Given the description of an element on the screen output the (x, y) to click on. 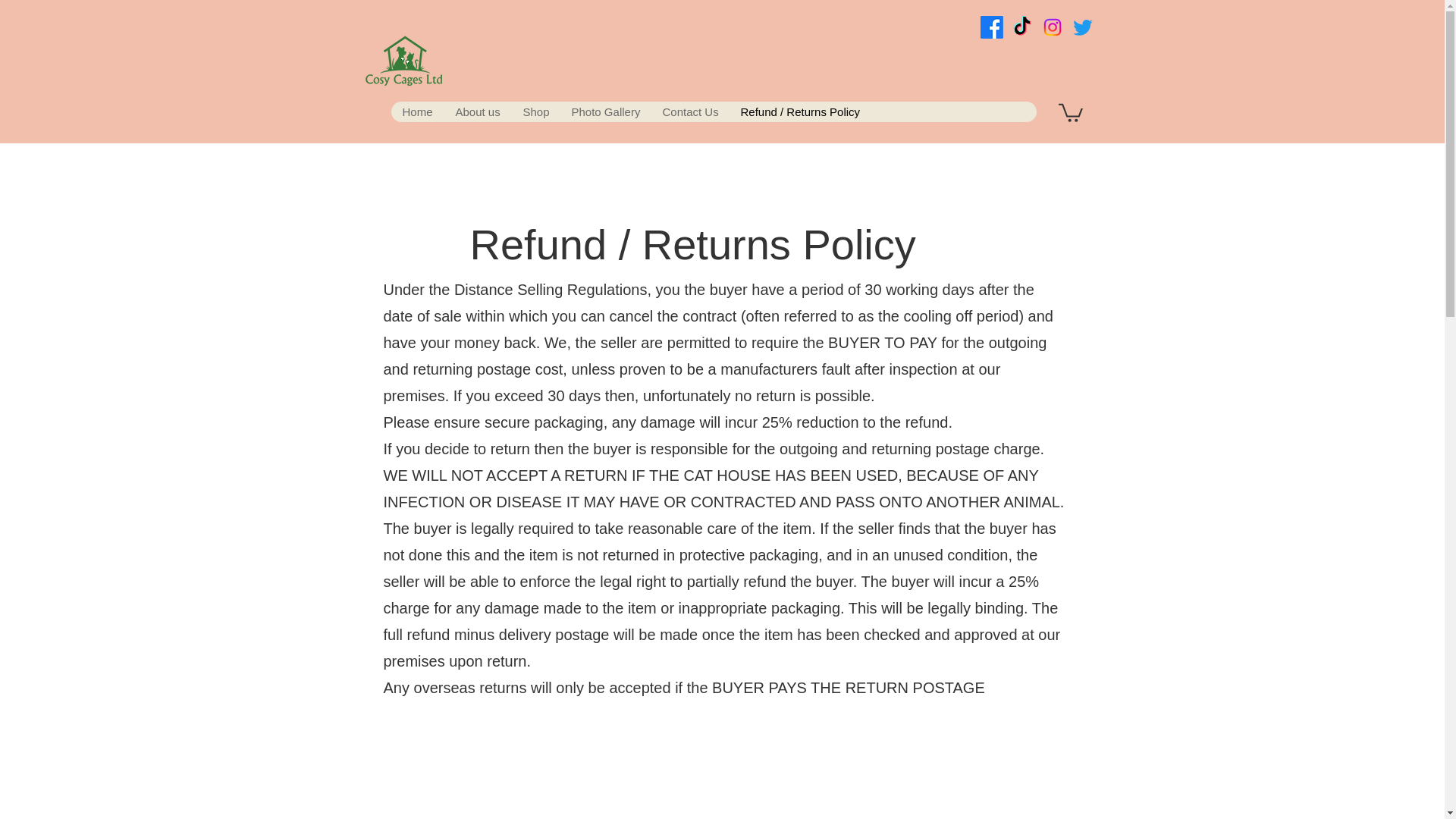
About us (476, 111)
Cosy Cages Ltd logo (403, 65)
Contact Us (689, 111)
Shop (535, 111)
Home (417, 111)
Photo Gallery (604, 111)
